Given the description of an element on the screen output the (x, y) to click on. 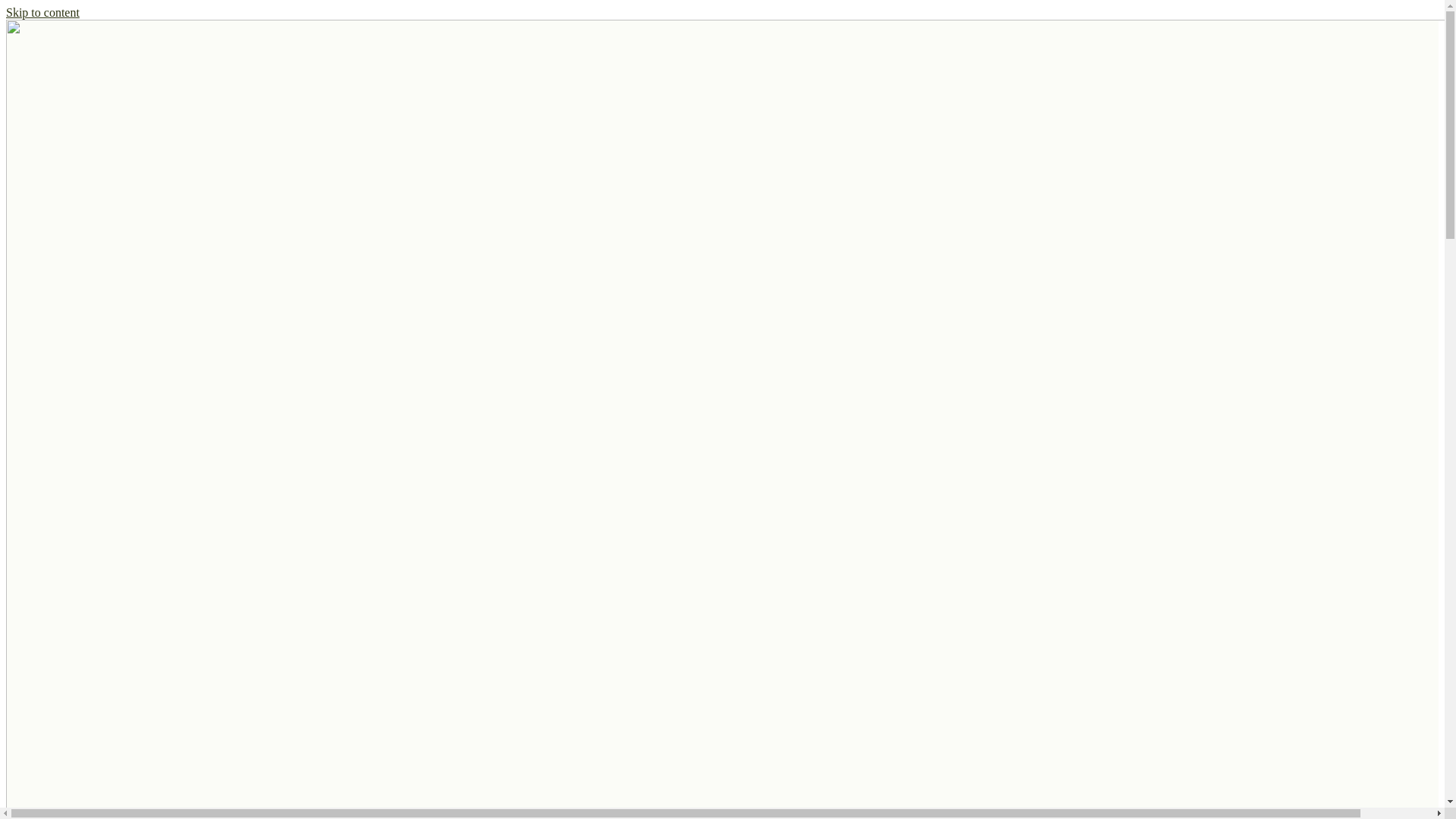
Skip to content Element type: text (42, 12)
